Given the description of an element on the screen output the (x, y) to click on. 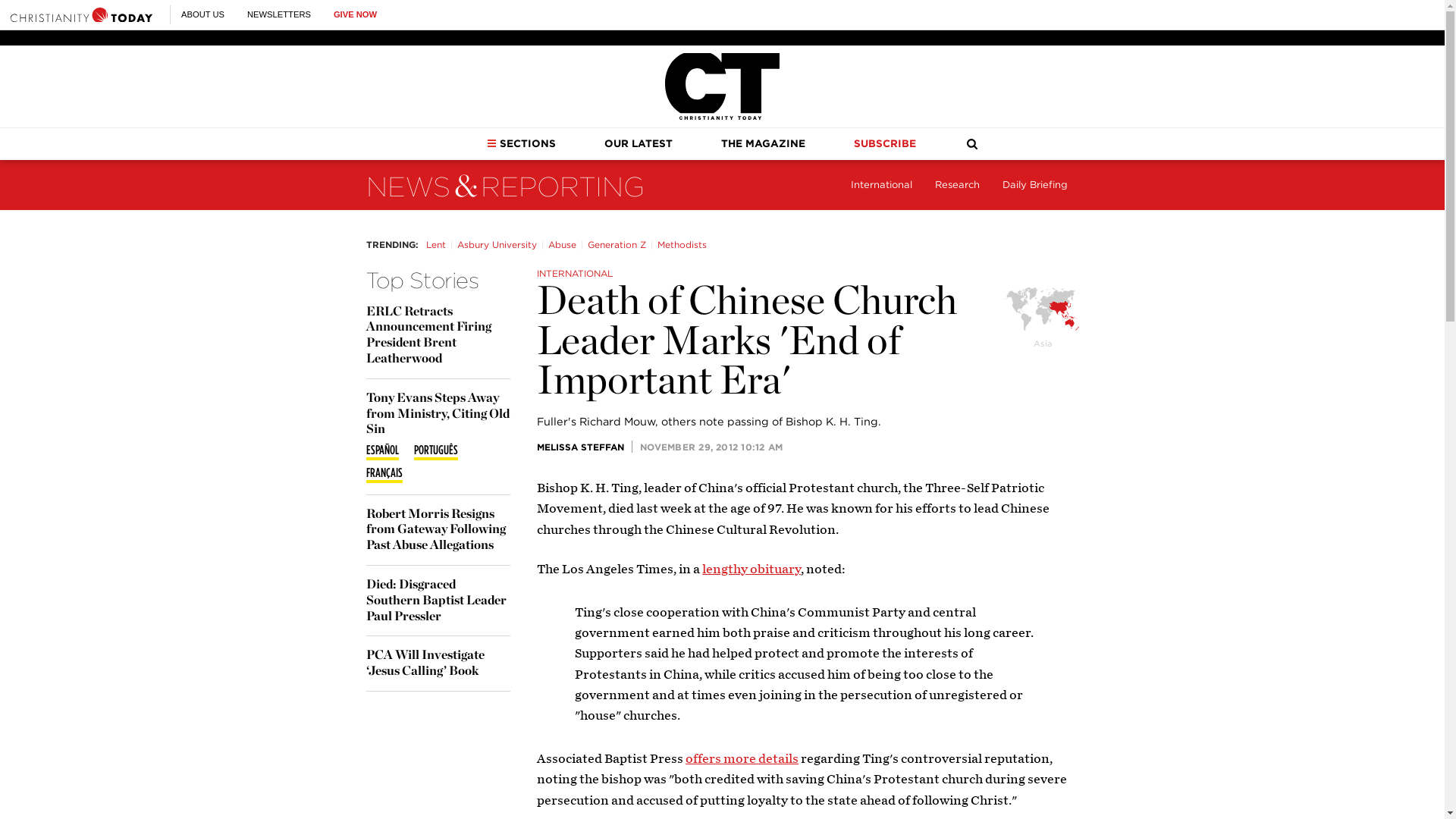
French (383, 474)
NEWSLETTERS (278, 14)
GIVE NOW (355, 14)
Spanish (381, 451)
Christianity Today (81, 14)
Sections Dropdown (491, 143)
Christianity Today (721, 86)
Portuguese (435, 451)
ABOUT US (202, 14)
SECTIONS (521, 143)
